Given the description of an element on the screen output the (x, y) to click on. 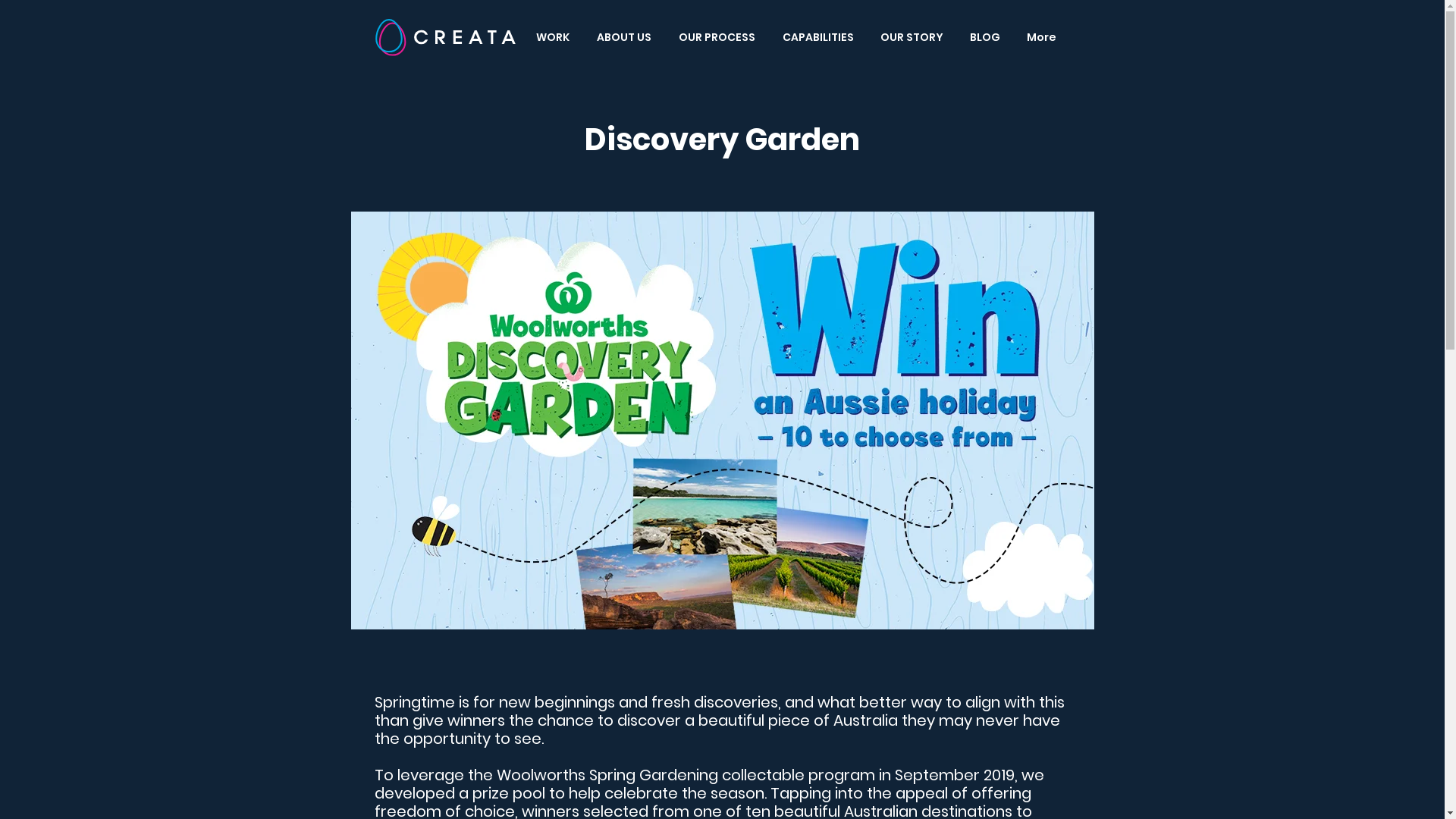
WORK Element type: text (554, 37)
OUR STORY Element type: text (913, 37)
BLOG Element type: text (986, 37)
OUR PROCESS Element type: text (719, 37)
ABOUT US Element type: text (626, 37)
CAPABILITIES Element type: text (819, 37)
